Given the description of an element on the screen output the (x, y) to click on. 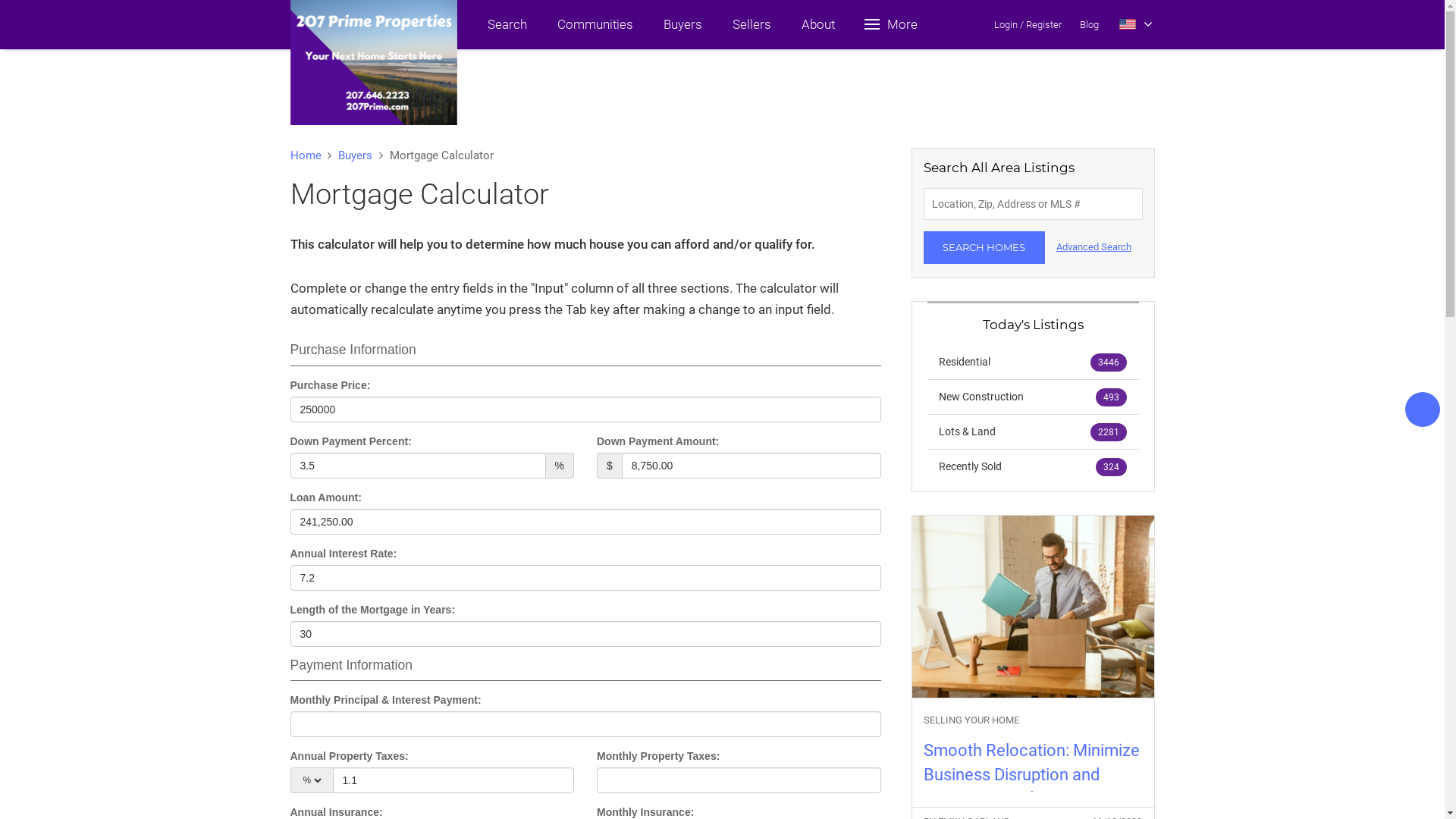
Home Element type: text (304, 155)
About Element type: text (817, 24)
SEARCH HOMES Element type: text (983, 247)
Register Element type: text (1042, 24)
SELLING YOUR HOME Element type: text (1032, 720)
Recently Sold
324 Element type: text (1032, 465)
Select Language Element type: hover (1135, 24)
Enter Location, Zip, Address or MLS # Element type: hover (1032, 203)
Lots & Land
2281 Element type: text (1032, 431)
Advanced Search Element type: text (1092, 247)
More Element type: text (891, 24)
New Construction
493 Element type: text (1032, 396)
Communities Element type: text (594, 24)
Search Element type: text (506, 24)
Buyers Element type: text (681, 24)
Residential
3446 Element type: text (1032, 362)
Sellers Element type: text (751, 24)
Buyers Element type: text (355, 155)
Blog Element type: text (1088, 24)
Login/ Element type: text (1009, 24)
